Given the description of an element on the screen output the (x, y) to click on. 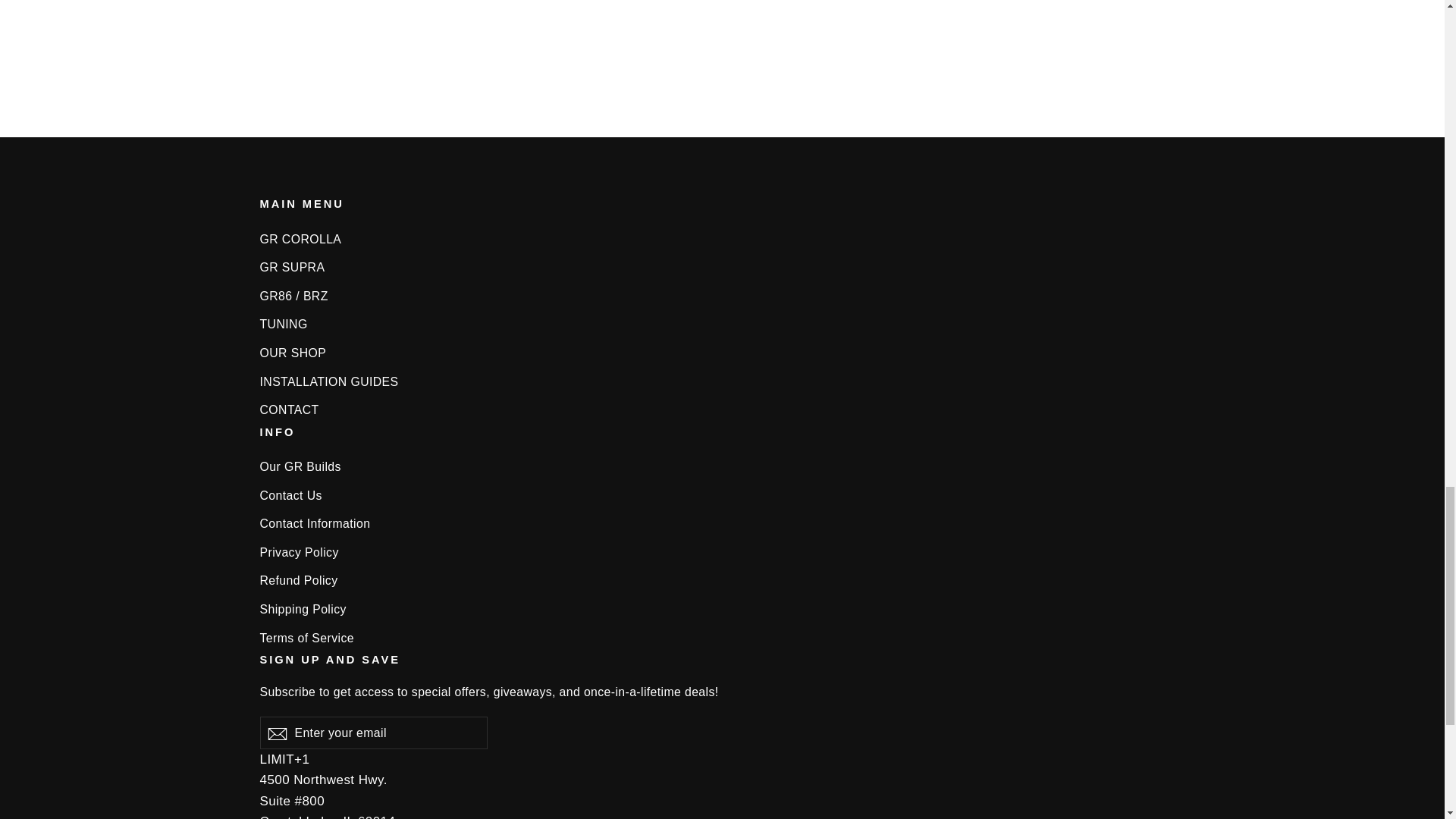
icon-email (276, 733)
